Given the description of an element on the screen output the (x, y) to click on. 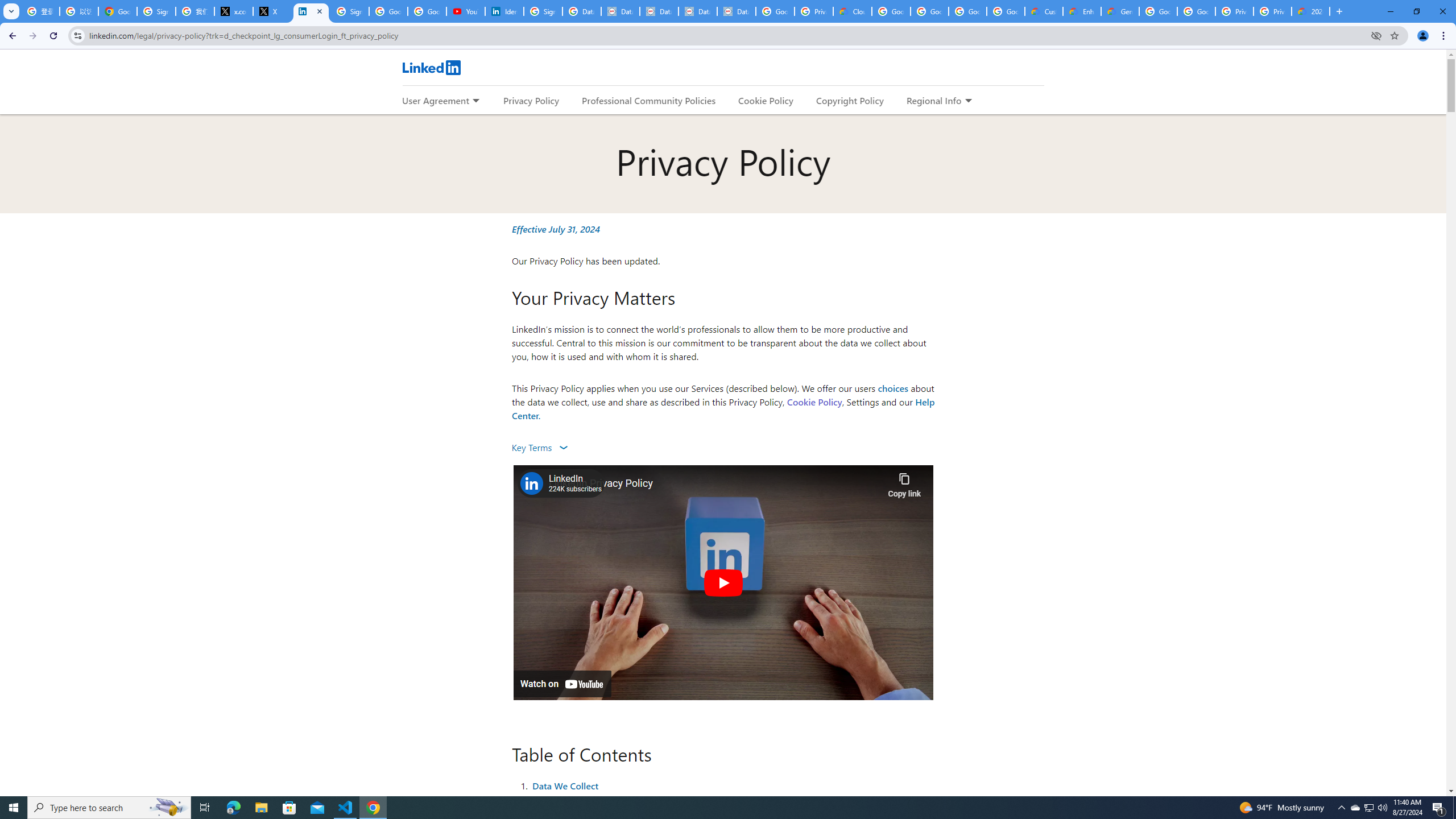
Sign in - Google Accounts (349, 11)
Google Workspace - Specific Terms (967, 11)
Google Workspace - Specific Terms (1005, 11)
Privacy Policy (530, 100)
